Given the description of an element on the screen output the (x, y) to click on. 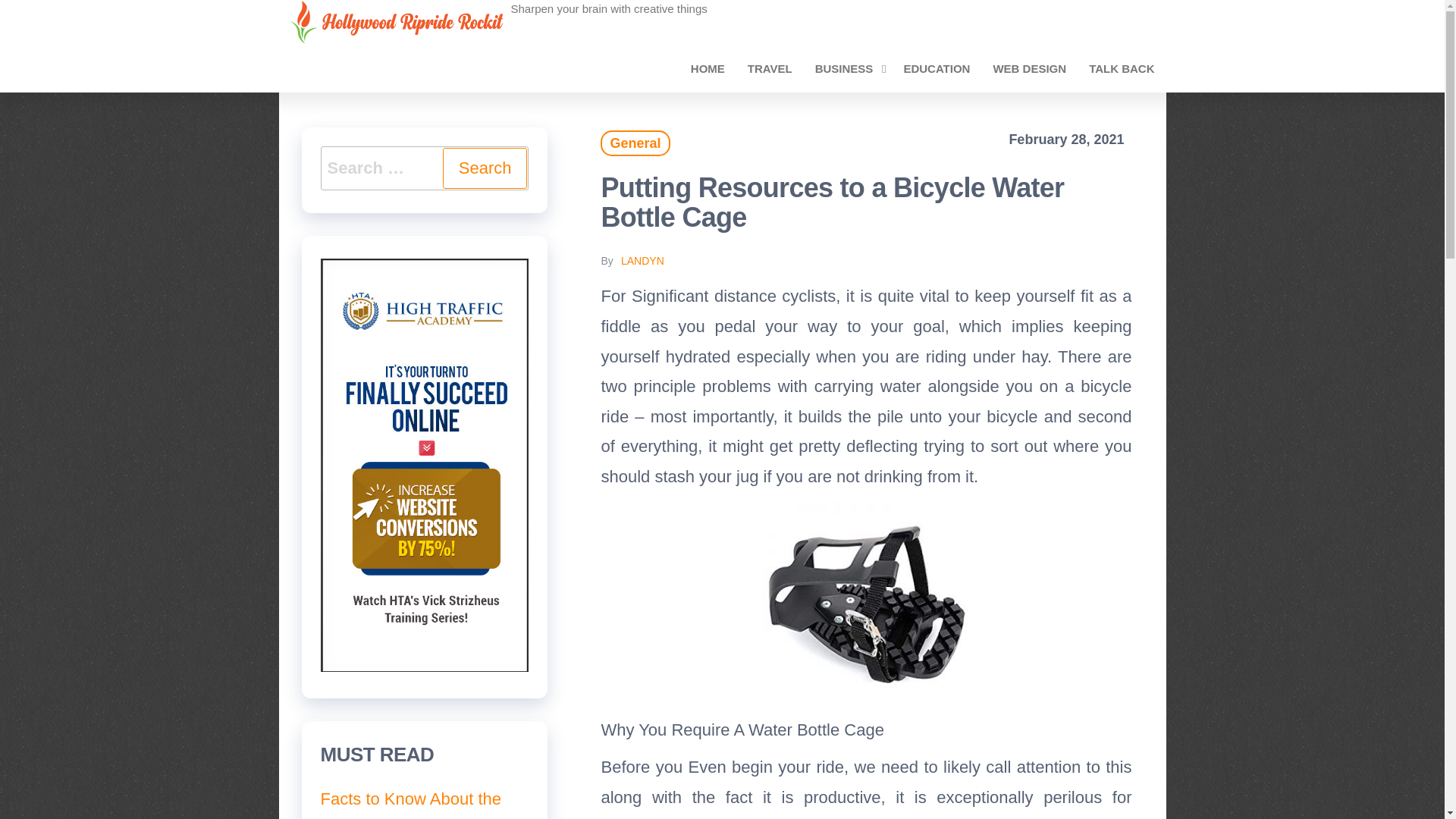
Travel (769, 68)
Search (484, 168)
General (634, 143)
Web Design (1029, 68)
Education (936, 68)
WEB DESIGN (1029, 68)
TRAVEL (769, 68)
TALK BACK (1121, 68)
EDUCATION (936, 68)
HOME (707, 68)
Hollywood Ripride Rockit (600, 25)
Talk Back (1121, 68)
BUSINESS (847, 68)
Search (484, 168)
